Given the description of an element on the screen output the (x, y) to click on. 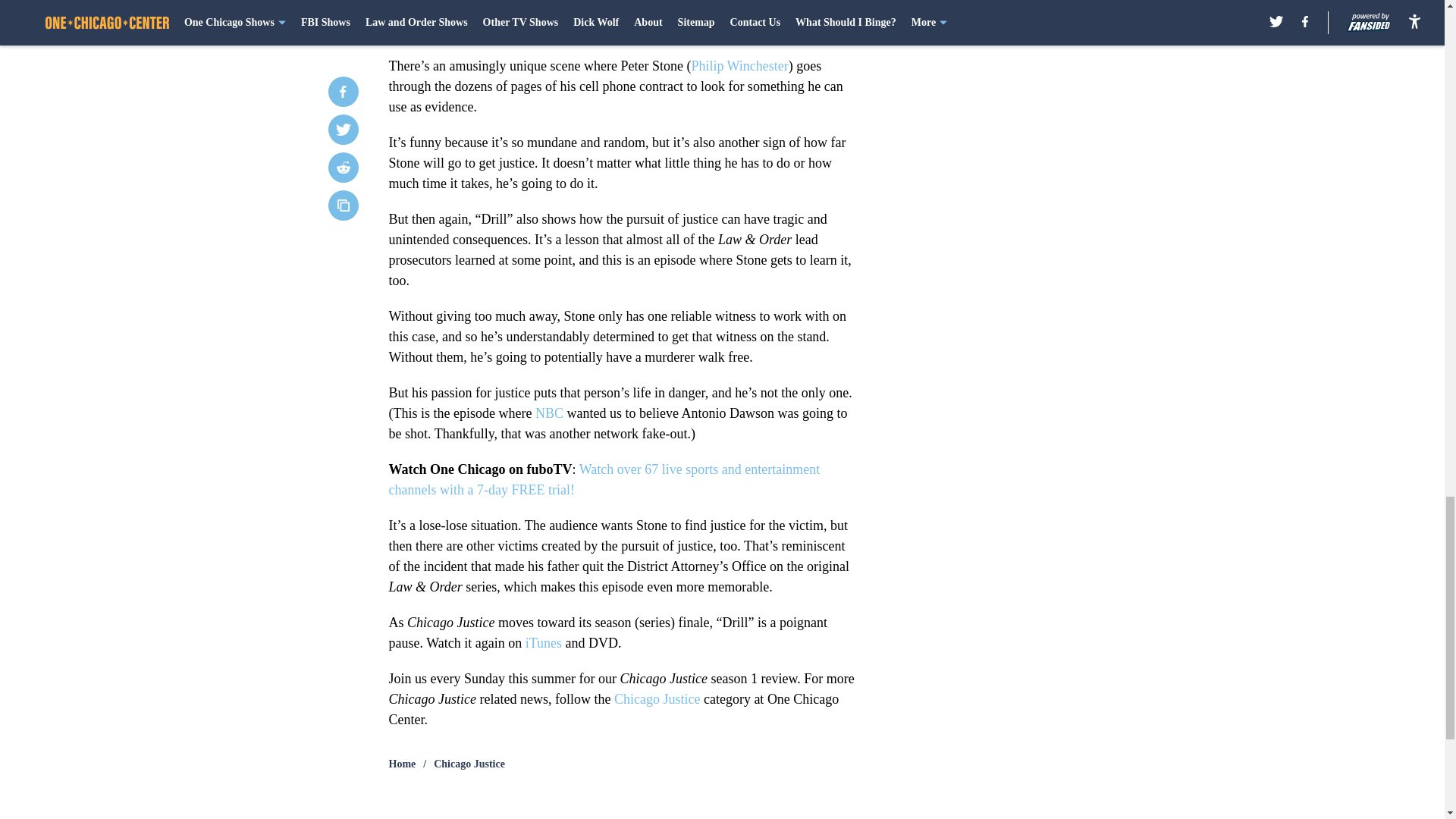
NBC (549, 412)
Philip Winchester (738, 65)
iTunes (543, 642)
